Given the description of an element on the screen output the (x, y) to click on. 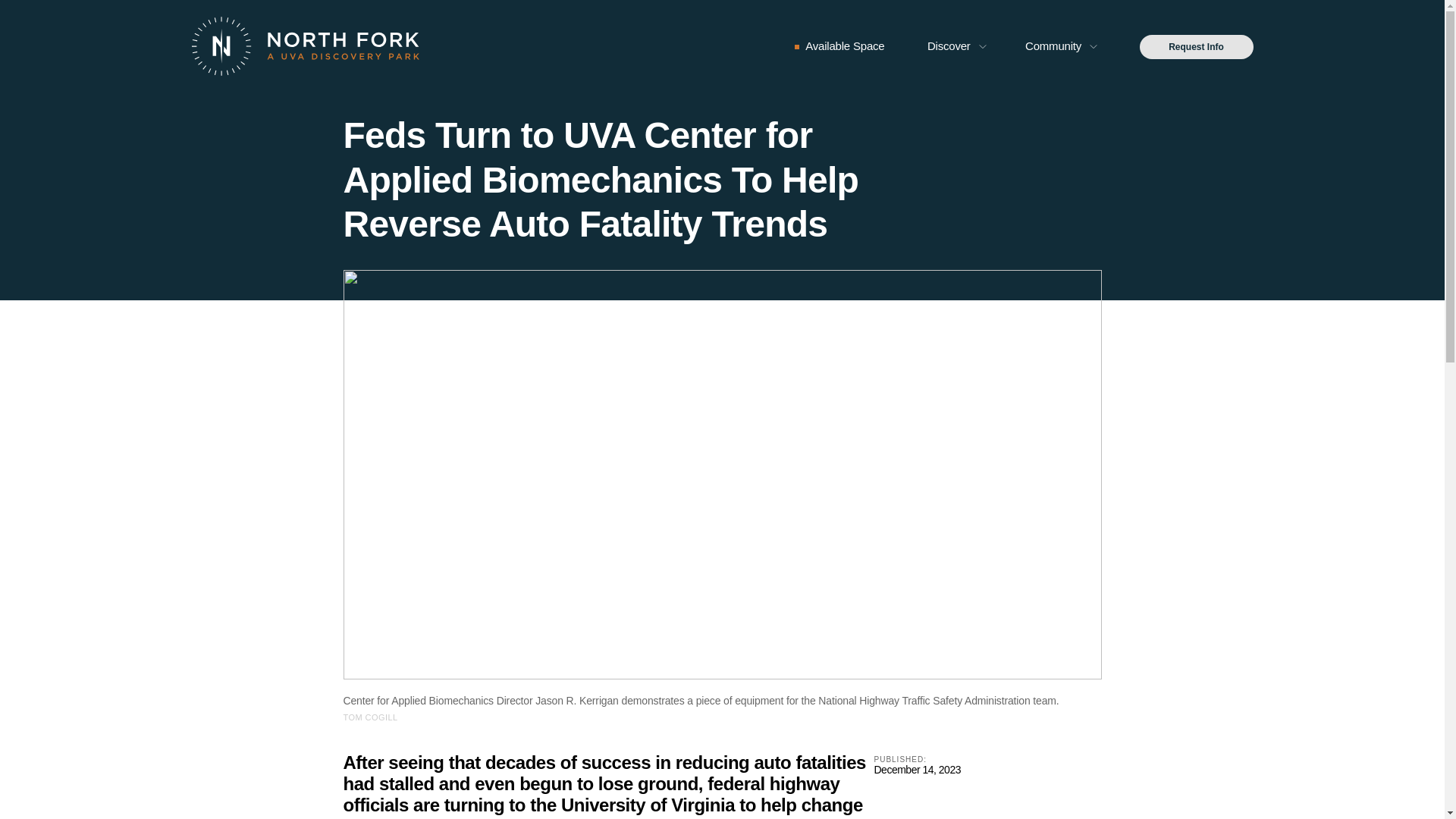
Community (1053, 46)
Discover (949, 46)
Available Space (844, 46)
Request Info (1195, 46)
